Given the description of an element on the screen output the (x, y) to click on. 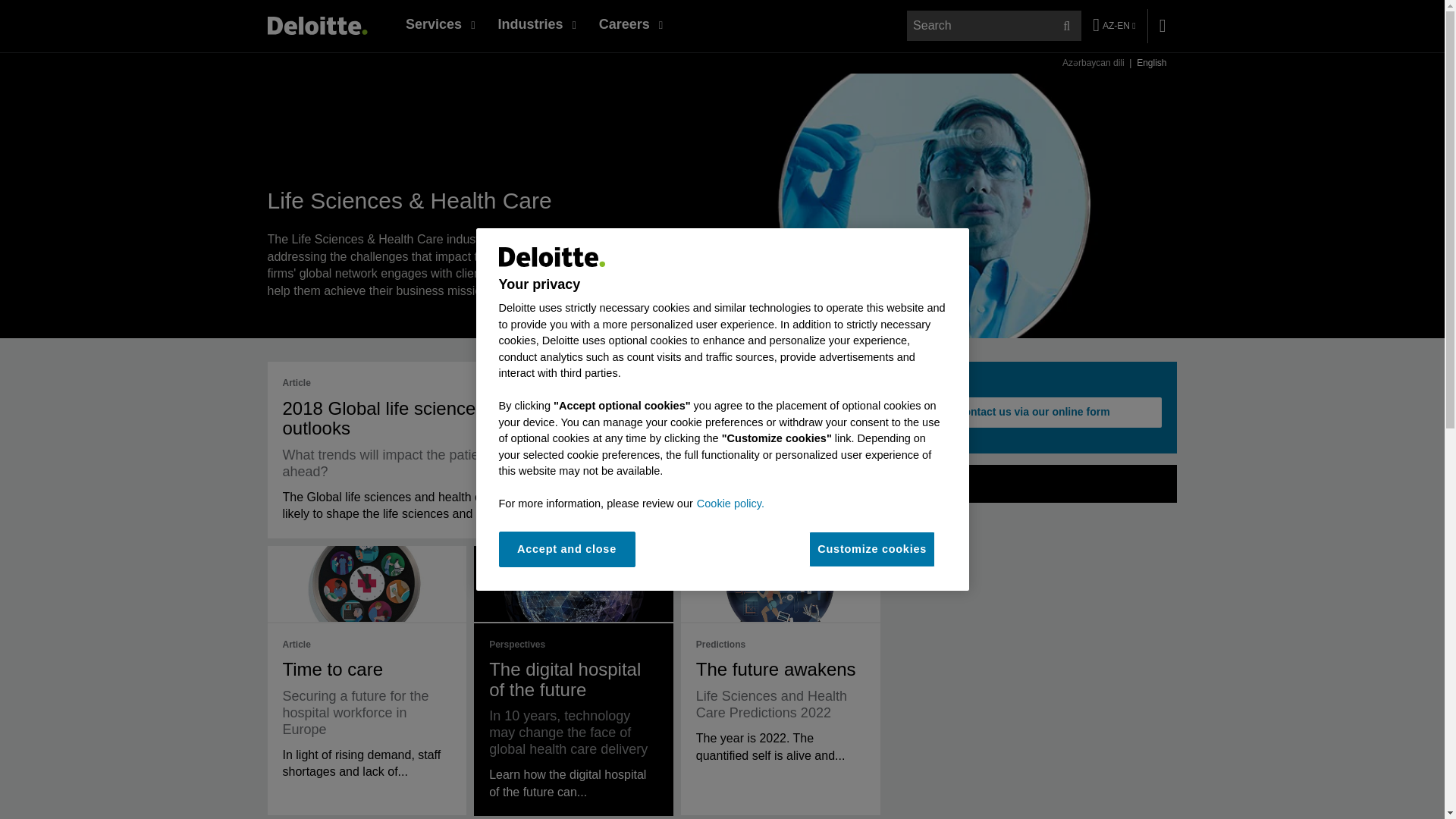
Deloitte (316, 25)
Industries (536, 24)
Search (1066, 25)
search (994, 25)
Services (440, 24)
